Given the description of an element on the screen output the (x, y) to click on. 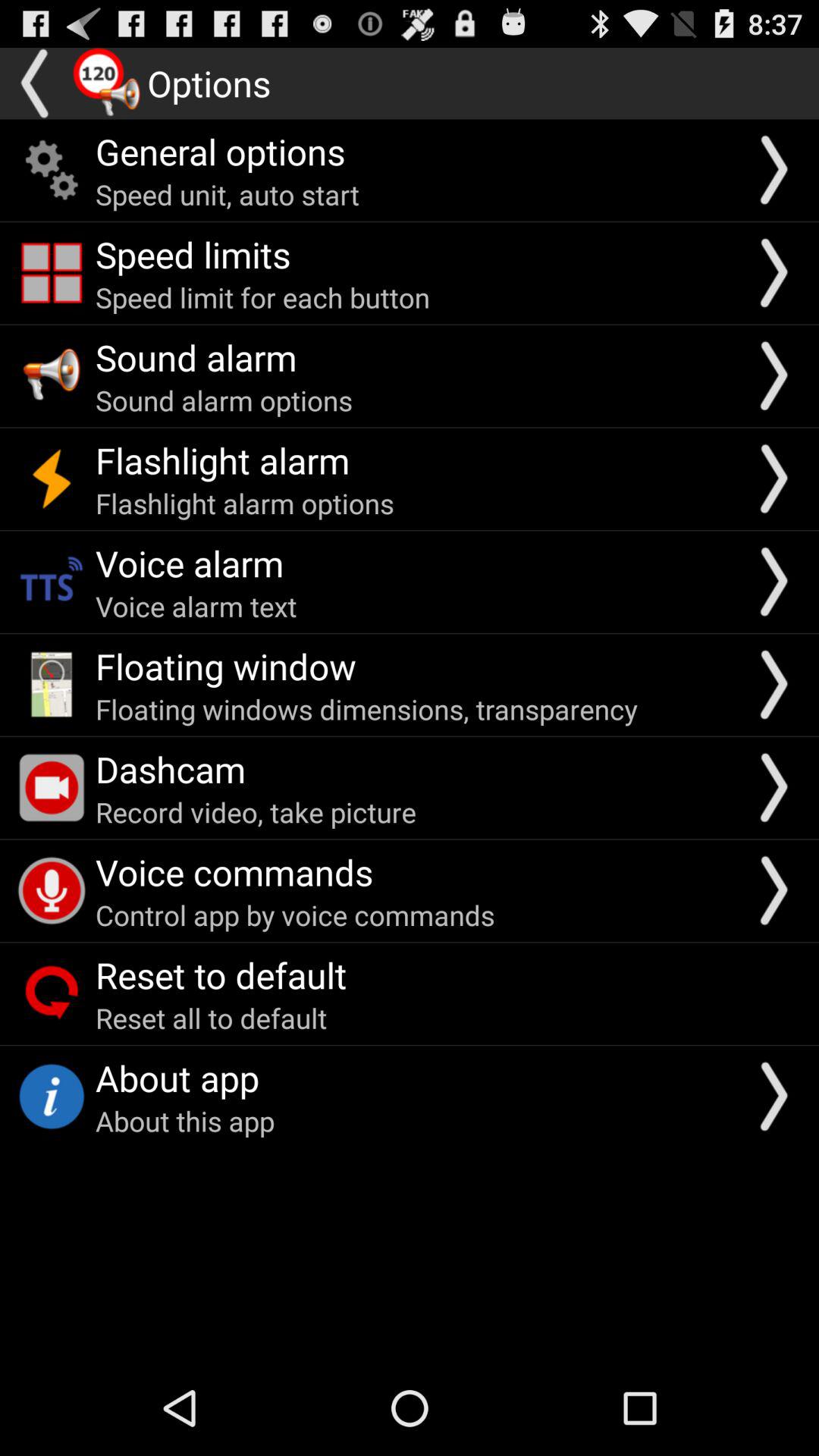
turn off the app below the voice alarm text item (225, 666)
